Given the description of an element on the screen output the (x, y) to click on. 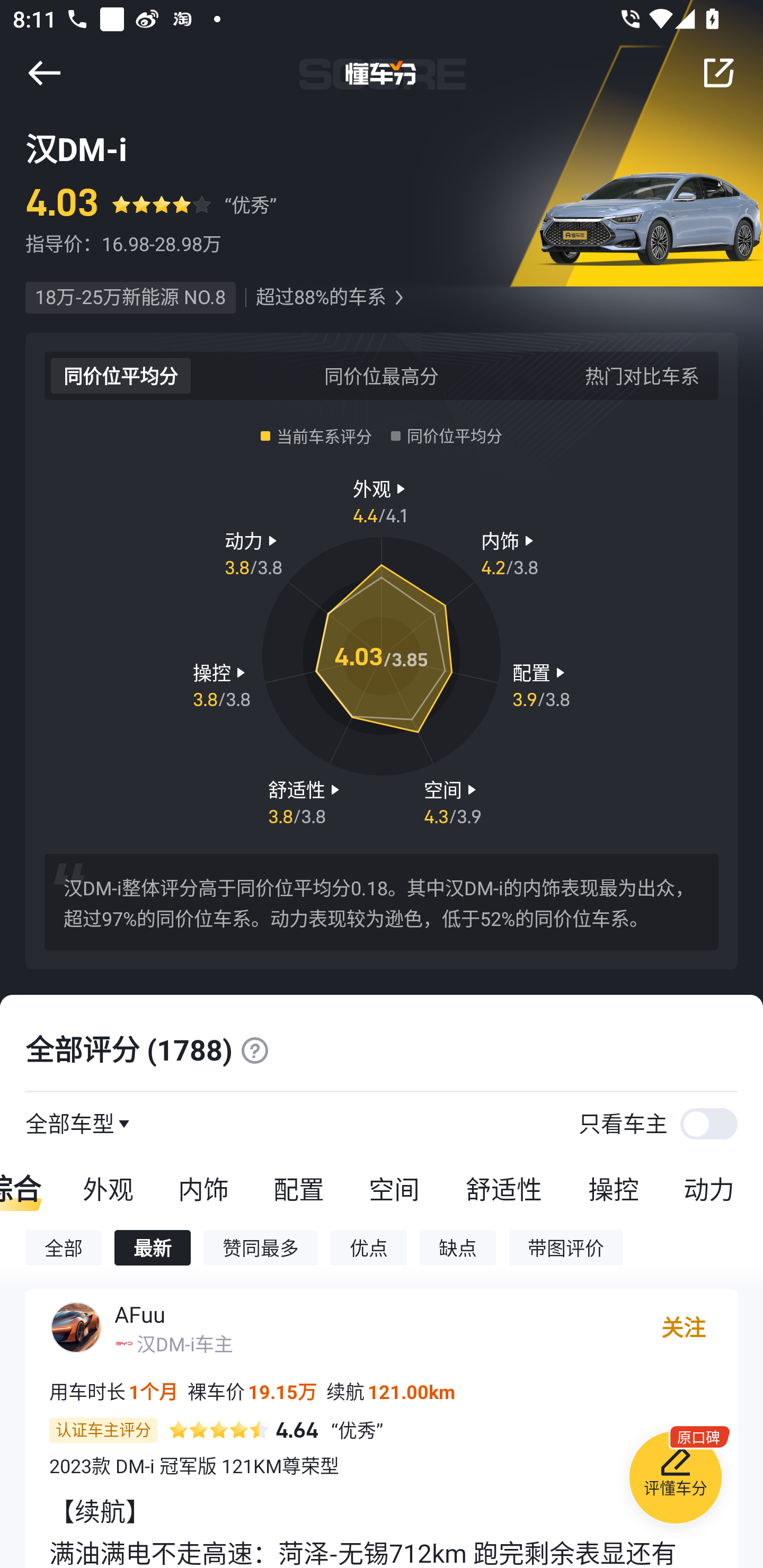
 (44, 72)
 (718, 72)
超过88%的车系 (320, 297)
 (398, 297)
同价位平均分 (120, 375)
同价位最高分 (381, 375)
热门对比车系 (641, 375)
外观  4.4 / 4.1 (381, 500)
动力  3.8 / 3.8 (253, 552)
内饰  4.2 / 3.8 (509, 552)
操控  3.8 / 3.8 (221, 685)
配置  3.9 / 3.8 (540, 685)
舒适性  3.8 / 3.8 (305, 801)
空间  4.3 / 3.9 (452, 801)
 (254, 1050)
全部车型 (69, 1123)
外观 (107, 1188)
内饰 (203, 1188)
配置 (298, 1188)
空间 (393, 1188)
舒适性 (503, 1188)
操控 (613, 1188)
动力 (712, 1188)
全部 (63, 1247)
最新 (152, 1247)
赞同最多 (260, 1247)
优点 (368, 1247)
缺点 (457, 1247)
带图评价 (565, 1247)
AFuu (139, 1313)
关注 (683, 1326)
汉DM-i车主 (184, 1343)
 评懂车分 原口碑 (675, 1480)
